Given the description of an element on the screen output the (x, y) to click on. 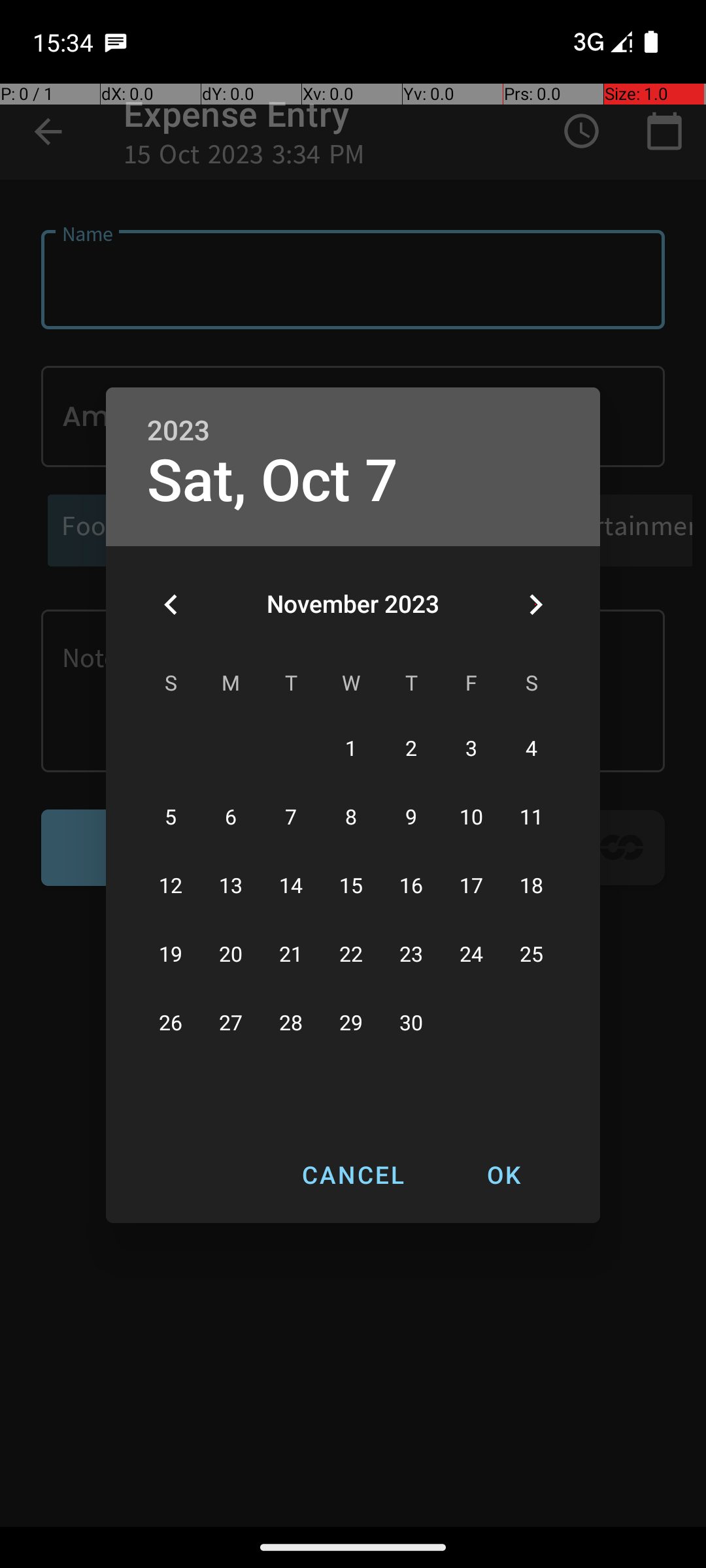
Sat, Oct 7 Element type: android.widget.TextView (272, 480)
